Given the description of an element on the screen output the (x, y) to click on. 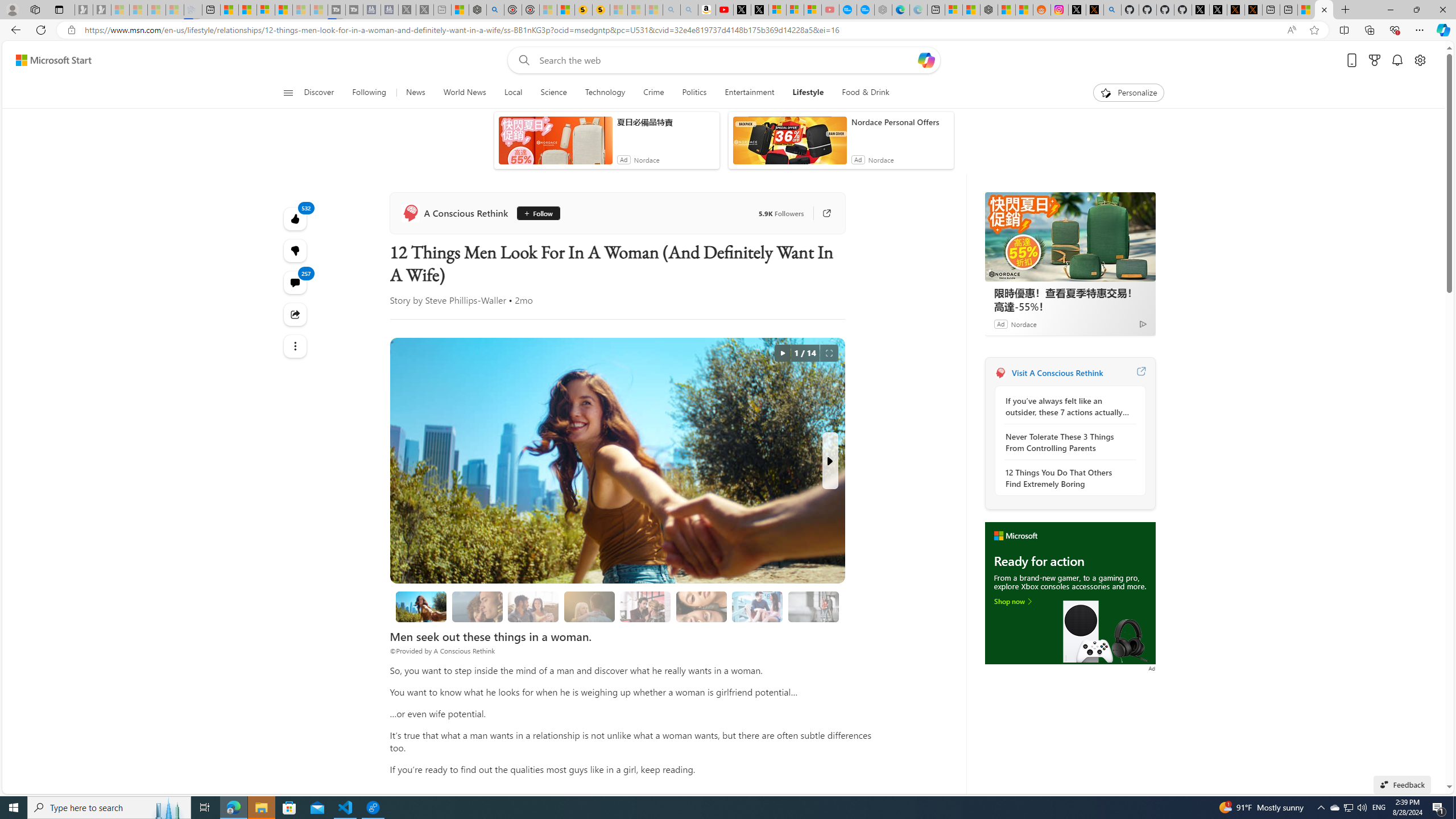
Open navigation menu (287, 92)
X Privacy Policy (1253, 9)
Crime (653, 92)
Share this story (295, 314)
Microsoft Start - Sleeping (301, 9)
More like this532Fewer like thisView comments (295, 250)
Lifestyle (807, 92)
Dislike (295, 250)
help.x.com | 524: A timeout occurred (1094, 9)
